Given the description of an element on the screen output the (x, y) to click on. 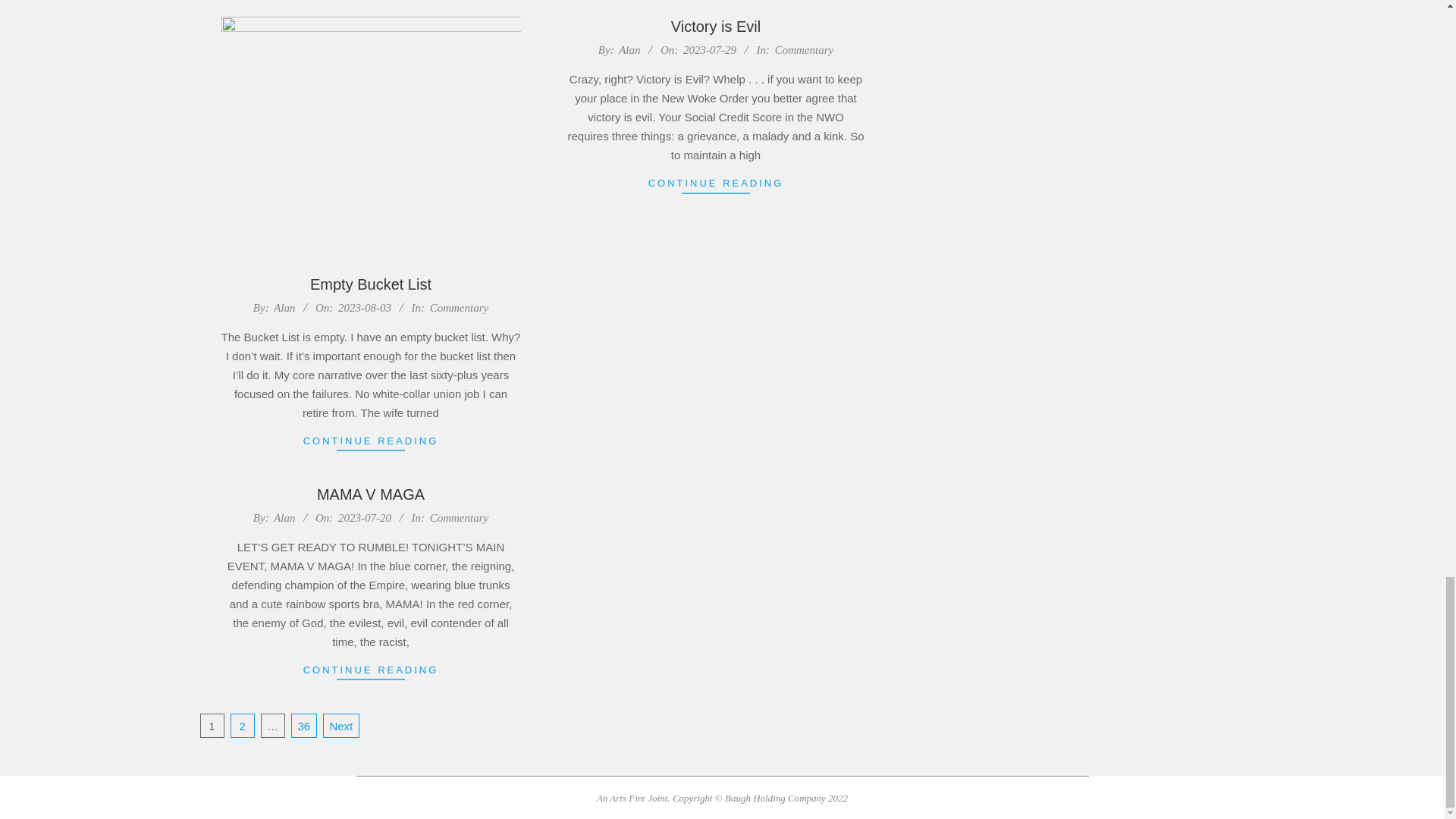
Empty Bucket List (370, 284)
Posts by Alan (284, 307)
Alan (284, 307)
Thursday, August 3, 2023, 6:00 am (364, 307)
Posts by Alan (629, 50)
